Given the description of an element on the screen output the (x, y) to click on. 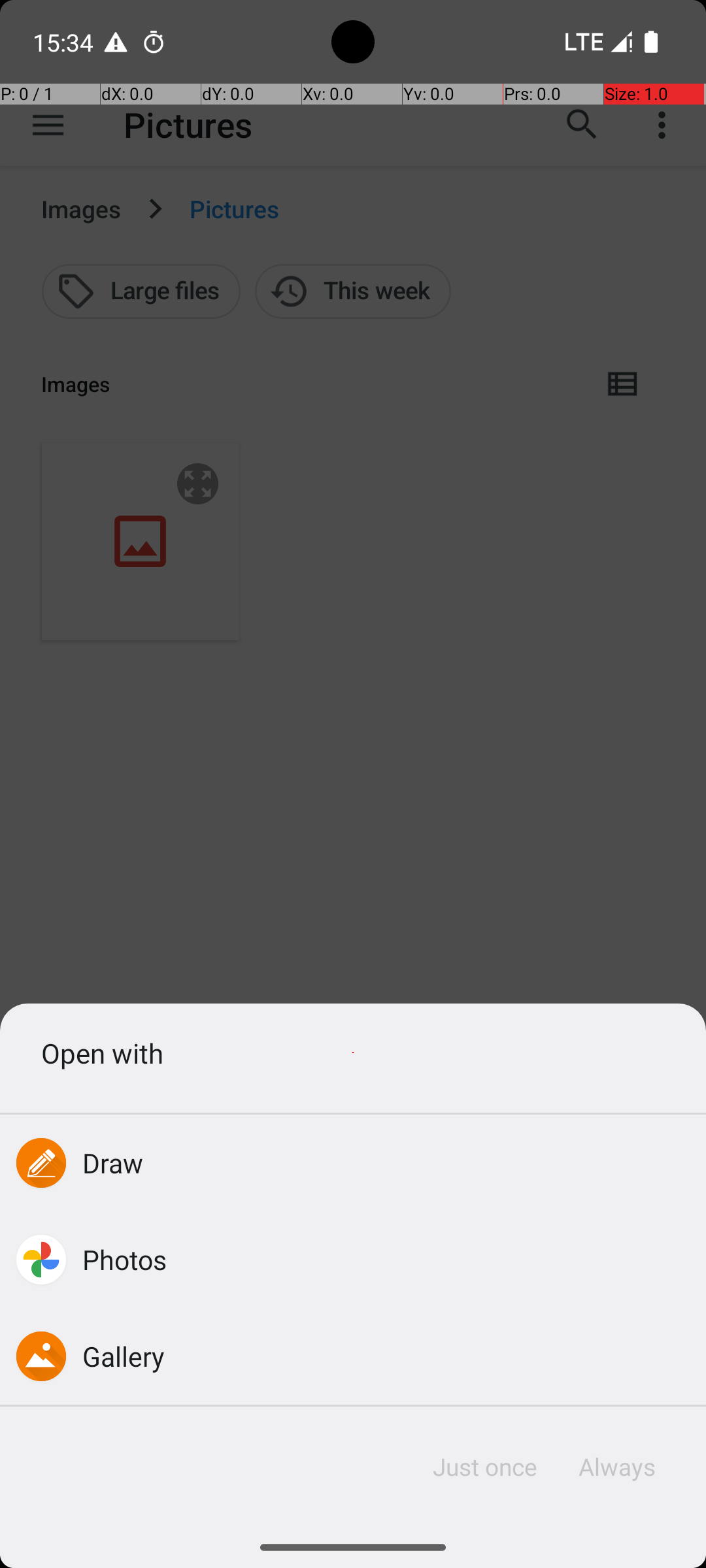
Open with Element type: android.widget.TextView (352, 1052)
Just once Element type: android.widget.Button (484, 1466)
Always Element type: android.widget.Button (616, 1466)
Draw Element type: android.widget.TextView (112, 1162)
Gallery Element type: android.widget.TextView (123, 1355)
